Given the description of an element on the screen output the (x, y) to click on. 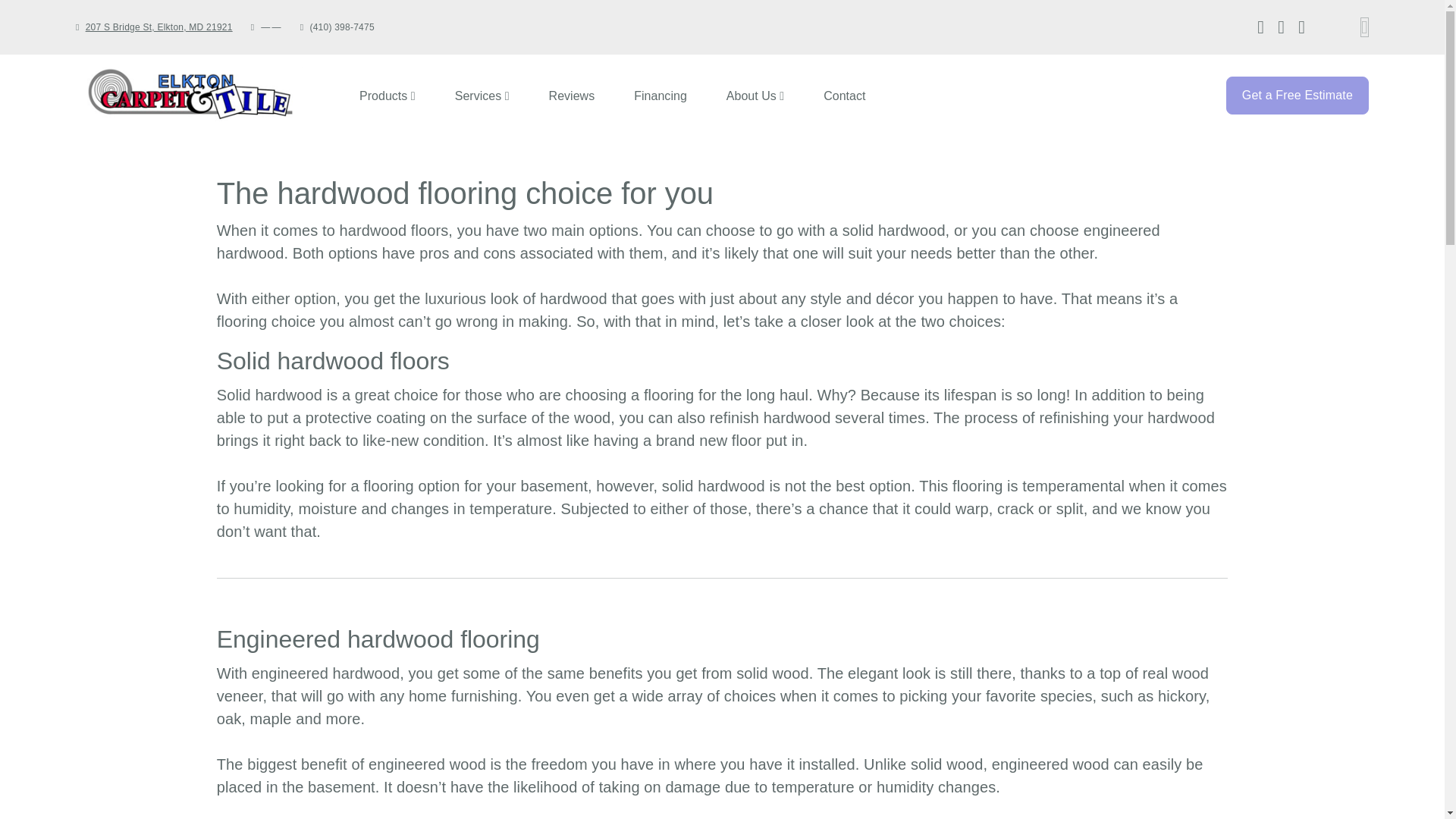
Products (764, 95)
207 S Bridge St, Elkton, MD 21921 (387, 95)
